Given the description of an element on the screen output the (x, y) to click on. 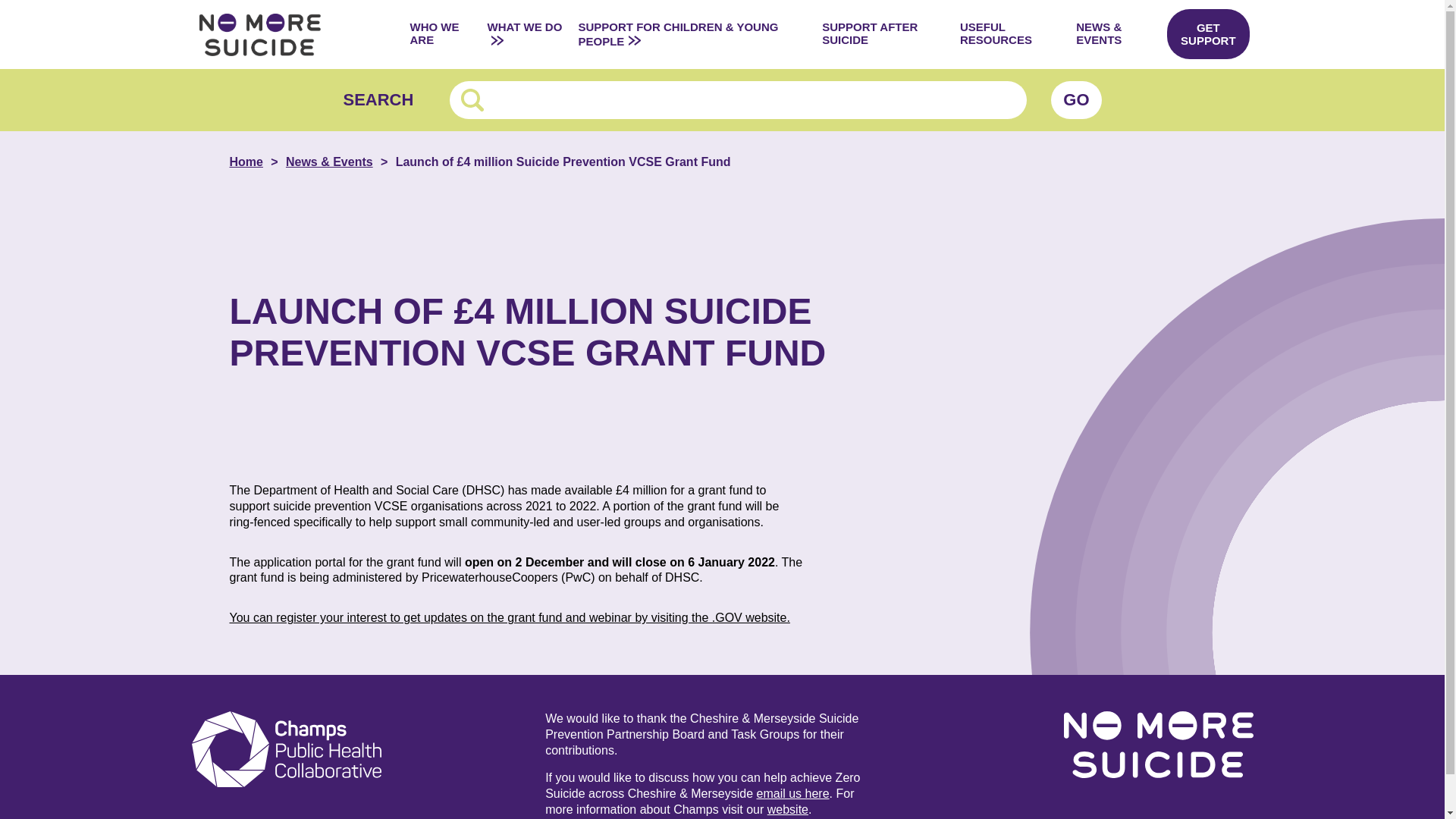
Go (1075, 99)
website (787, 809)
Go (1075, 99)
WHAT WE DO (526, 34)
WHO WE ARE (441, 34)
GET SUPPORT (1208, 33)
Home (256, 161)
Go (1075, 99)
